Given the description of an element on the screen output the (x, y) to click on. 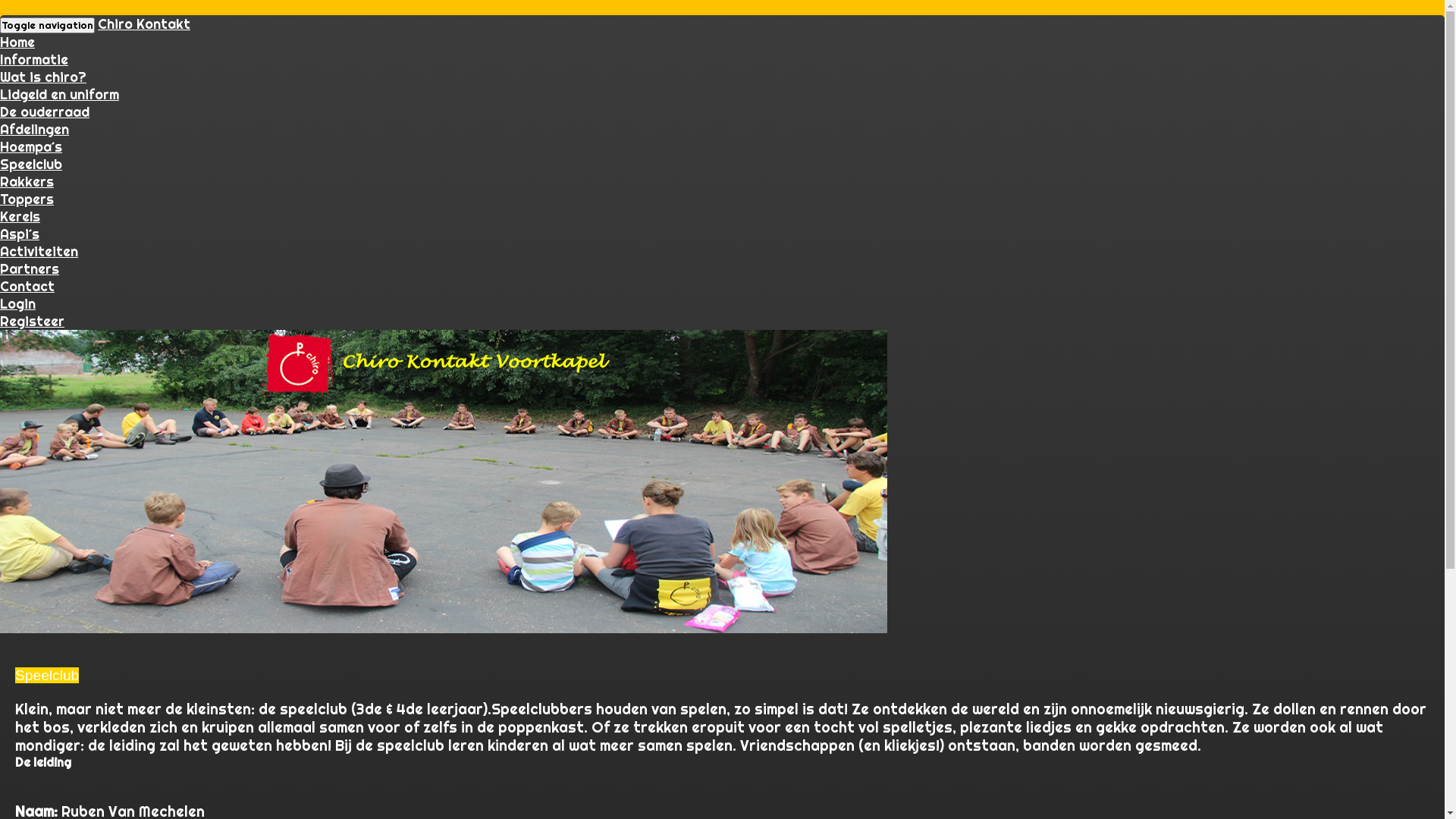
Rakkers Element type: text (26, 181)
Lidgeld en uniform Element type: text (59, 94)
Toggle navigation Element type: text (47, 25)
Informatie Element type: text (34, 59)
Afdelingen Element type: text (34, 129)
Login Element type: text (17, 303)
Partners Element type: text (29, 268)
Kerels Element type: text (20, 216)
Home Element type: text (17, 41)
Registeer Element type: text (32, 320)
Speelclub Element type: text (31, 163)
Contact Element type: text (27, 285)
De ouderraad Element type: text (44, 111)
Wat is chiro? Element type: text (43, 76)
Activiteiten Element type: text (39, 251)
Chiro Kontakt Element type: text (143, 23)
Toppers Element type: text (26, 198)
